Given the description of an element on the screen output the (x, y) to click on. 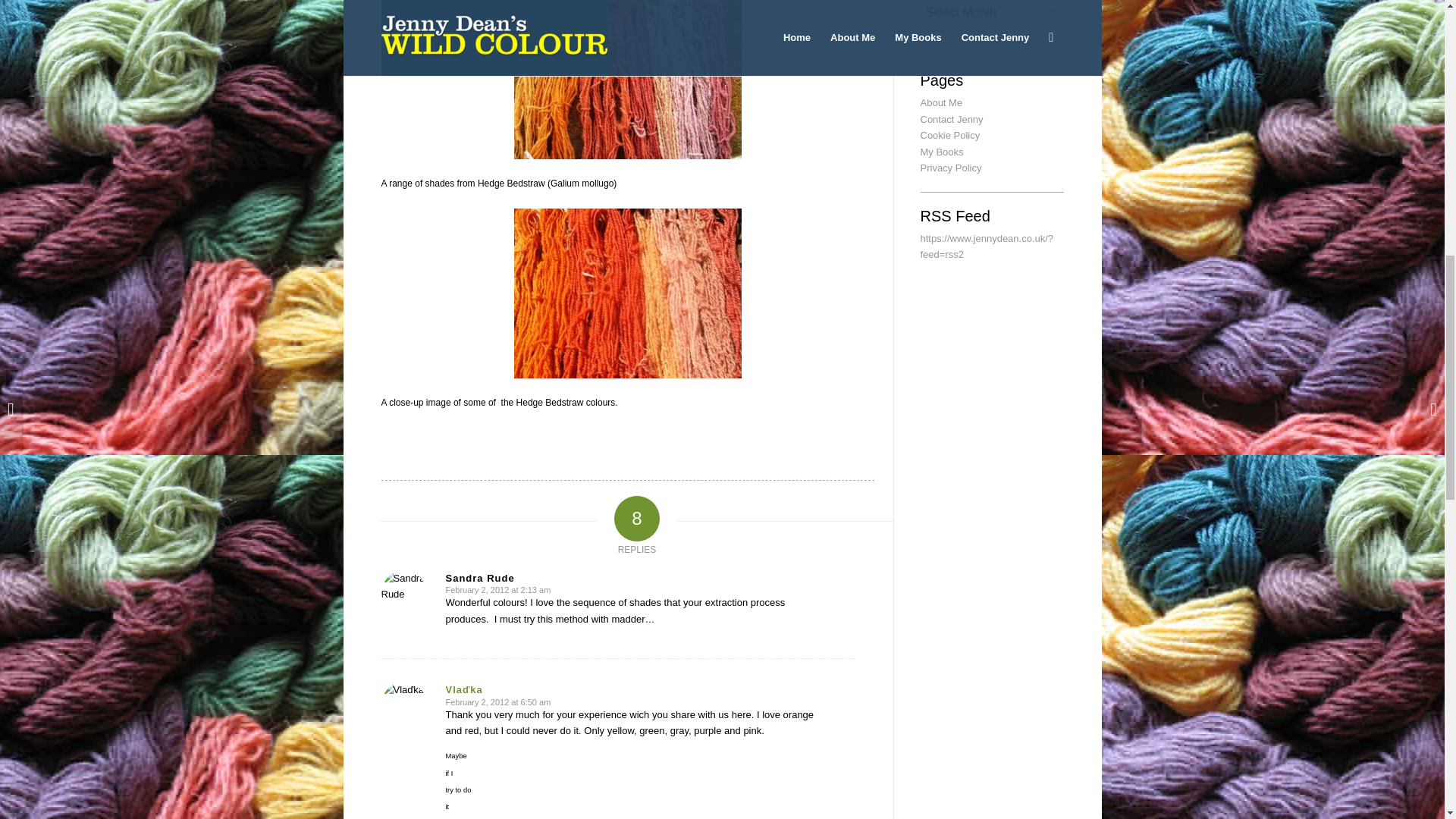
086 (627, 292)
February 2, 2012 at 6:50 am (498, 701)
February 2, 2012 at 2:13 am (498, 589)
077 (627, 83)
